Given the description of an element on the screen output the (x, y) to click on. 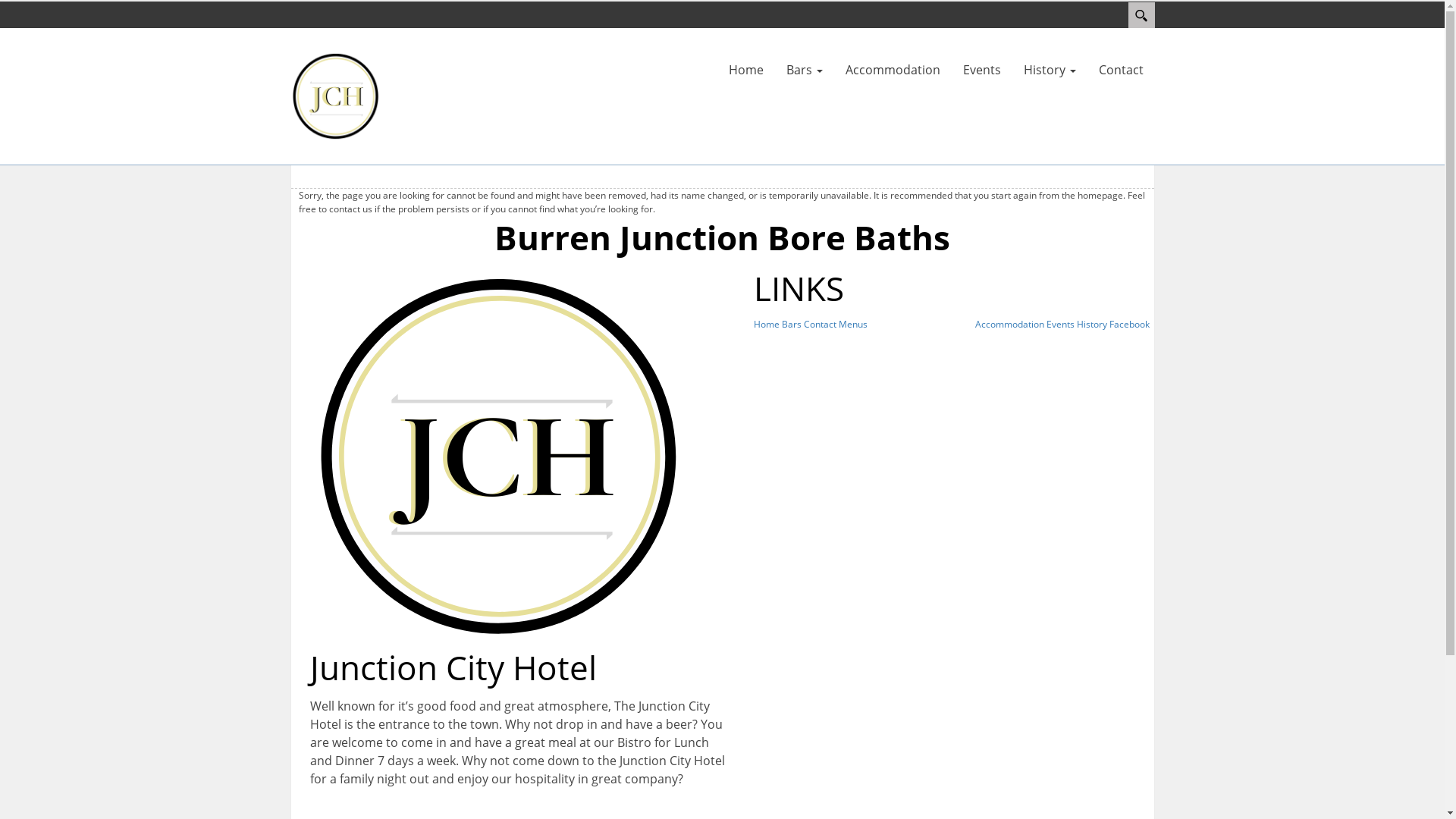
Bars Element type: text (790, 323)
Home Element type: text (766, 323)
History Element type: text (1091, 323)
Facebook Element type: text (1129, 323)
Accommodation Element type: text (1009, 323)
Search Element type: text (1141, 15)
Events Element type: text (1060, 323)
Menus Element type: text (852, 323)
History Element type: text (1048, 69)
Home Element type: text (746, 69)
Bars Element type: text (804, 69)
Events Element type: text (980, 69)
Contact Element type: text (819, 323)
Accommodation Element type: text (892, 69)
Junction City Element type: hover (334, 94)
Contact Element type: text (1120, 69)
